Given the description of an element on the screen output the (x, y) to click on. 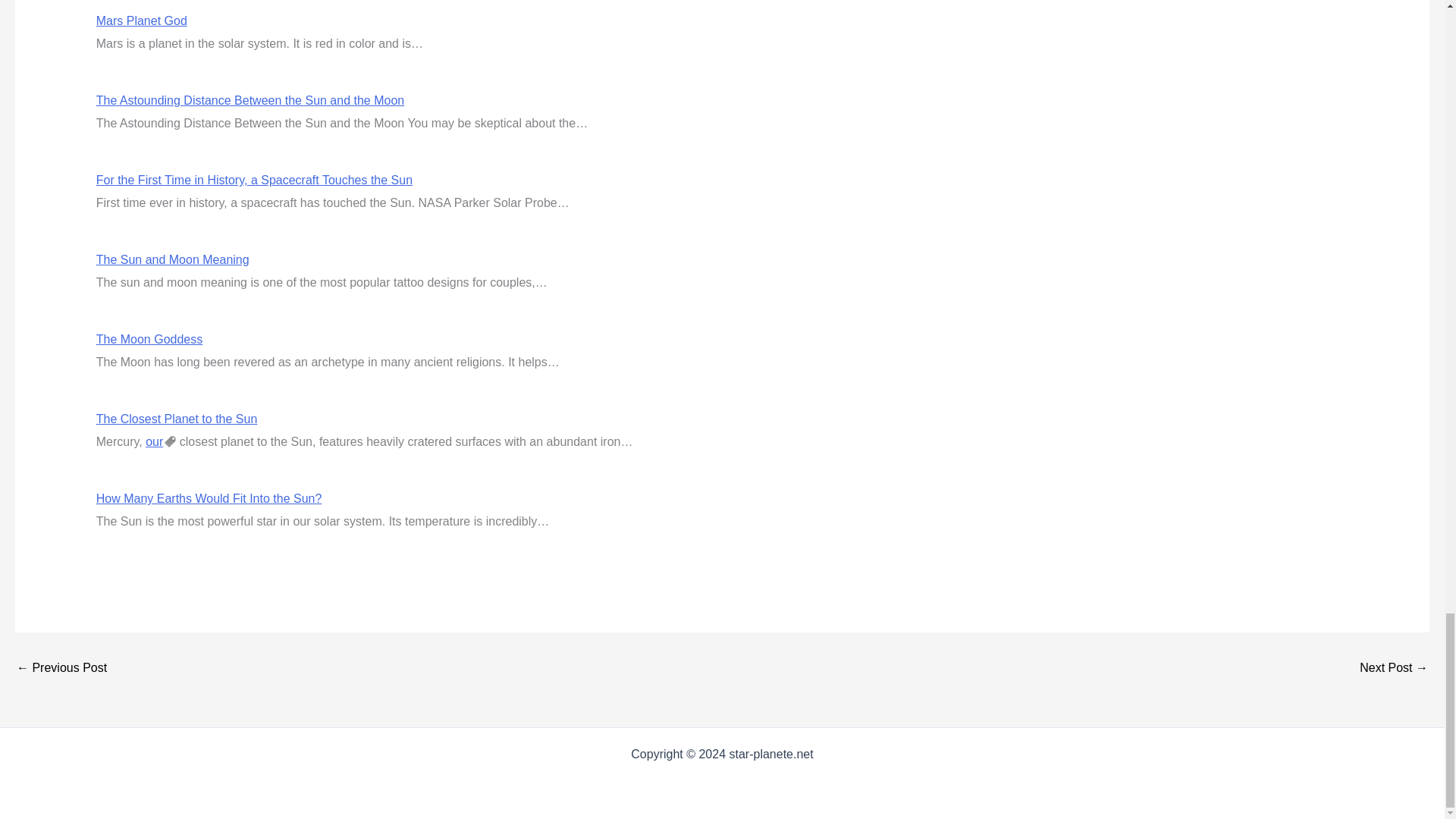
The Best Thing About Cuba (1393, 667)
The Apollo 11 Mission Could Have Bee Much Worse (61, 667)
